Given the description of an element on the screen output the (x, y) to click on. 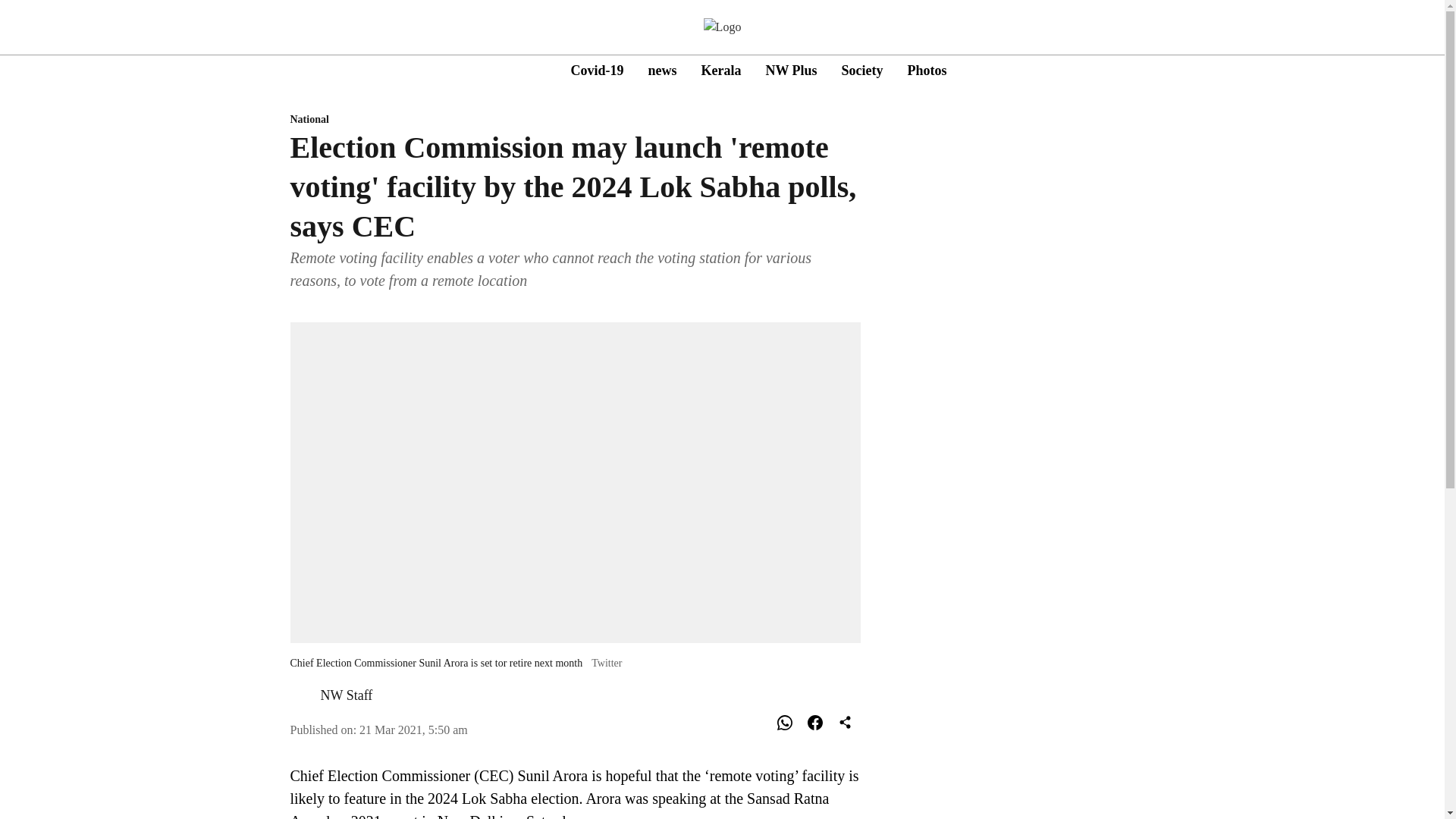
Covid-19 (596, 70)
news (662, 70)
Kerala (720, 70)
National (574, 119)
Society (862, 70)
Photos (927, 70)
NW Plus (757, 70)
NW Staff (790, 70)
2021-03-21 05:50 (346, 694)
